Given the description of an element on the screen output the (x, y) to click on. 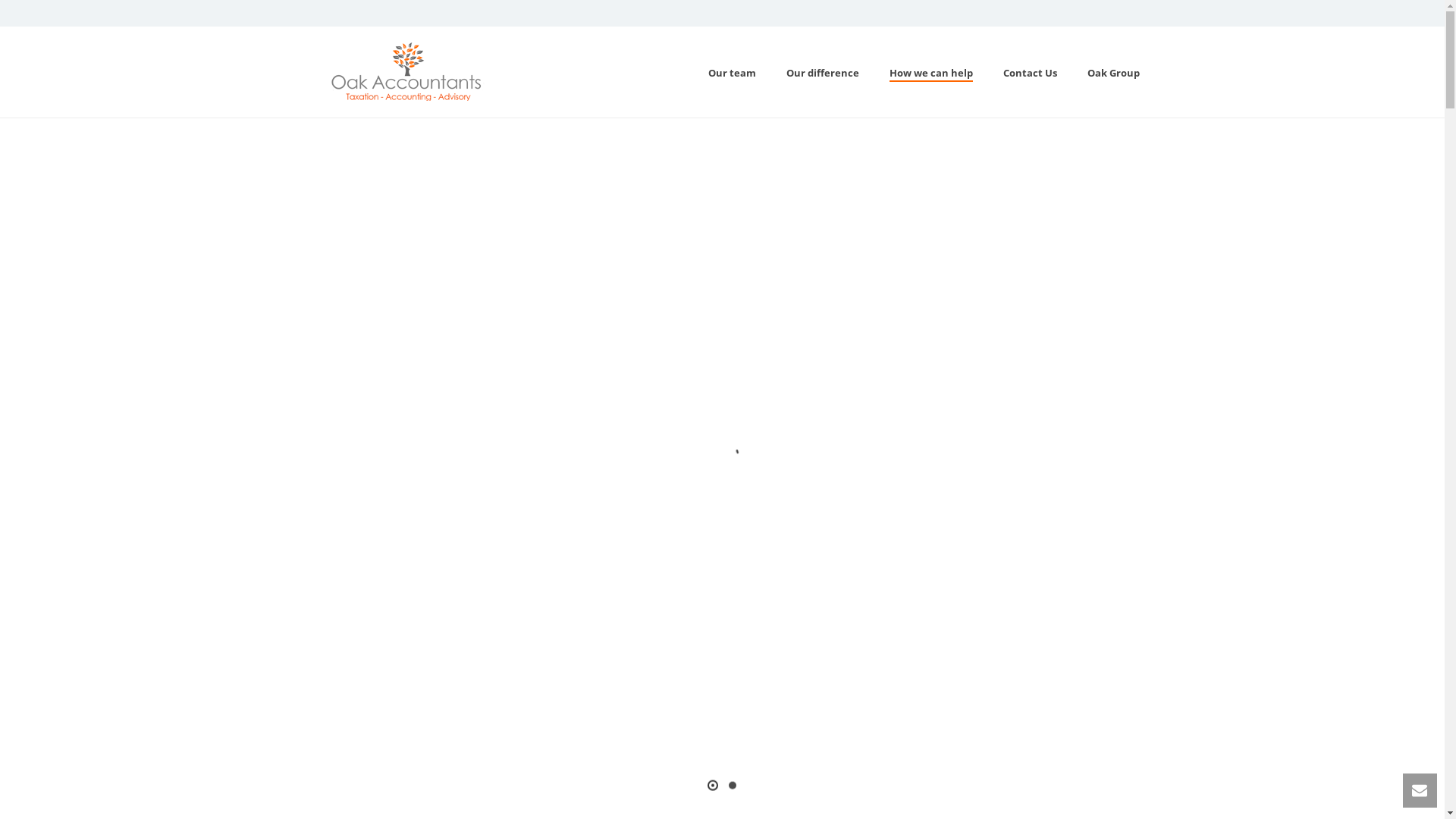
How we can help Element type: text (930, 72)
Oak Accountants Element type: hover (403, 71)
Our team Element type: text (732, 72)
Our difference Element type: text (821, 72)
Oak Group Element type: text (1113, 72)
Contact Us Element type: text (1029, 72)
